Given the description of an element on the screen output the (x, y) to click on. 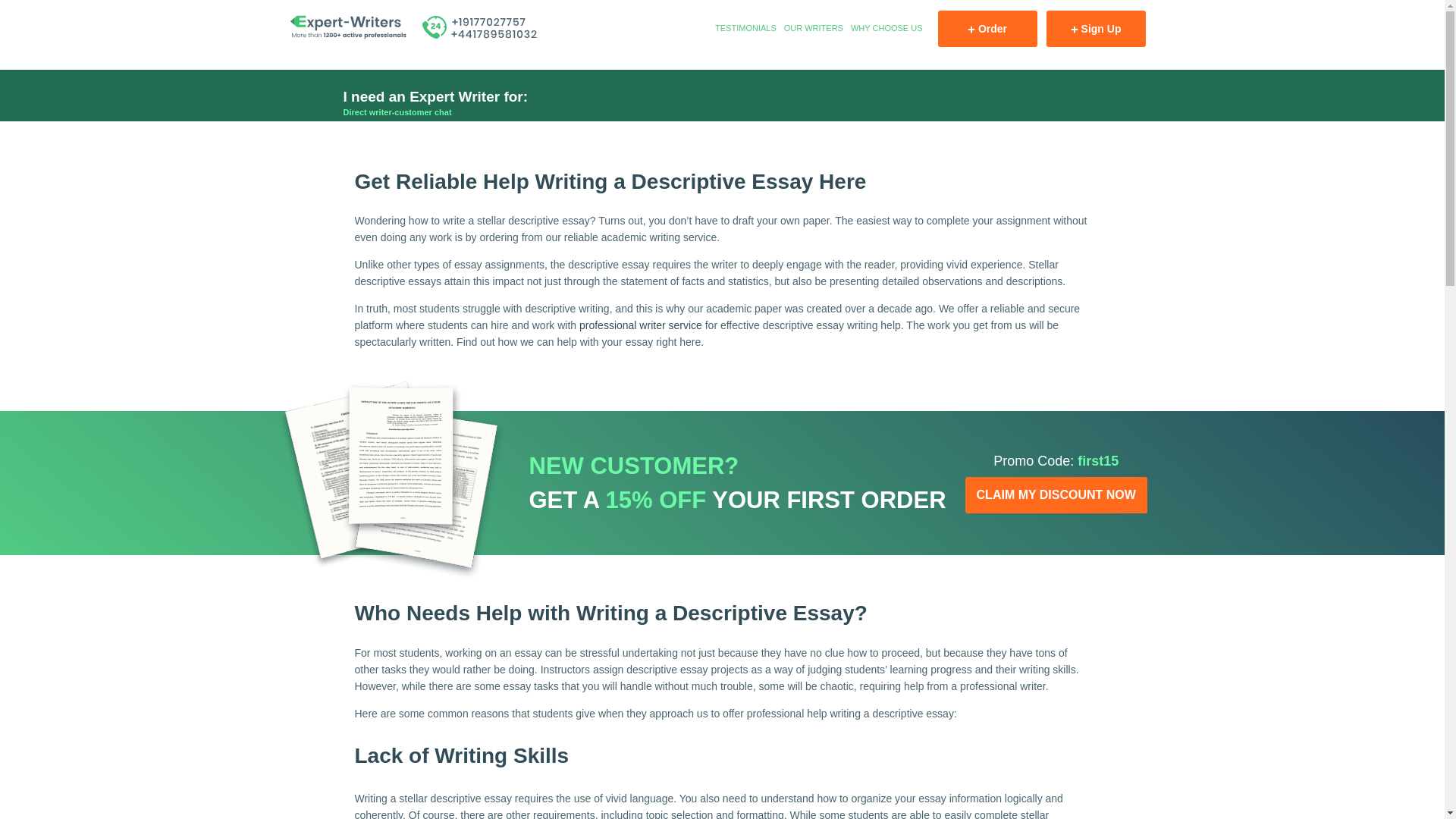
Direct writer-customer chat (396, 112)
Sign Up (1095, 28)
WHY CHOOSE US (886, 28)
CLAIM MY DISCOUNT NOW (1056, 494)
TESTIMONIALS (745, 28)
Order (986, 28)
TESTIMONIALS (745, 28)
OUR WRITERS (813, 28)
professional writer service (640, 325)
WHY CHOOSE US (886, 28)
OUR WRITERS (813, 28)
